Given the description of an element on the screen output the (x, y) to click on. 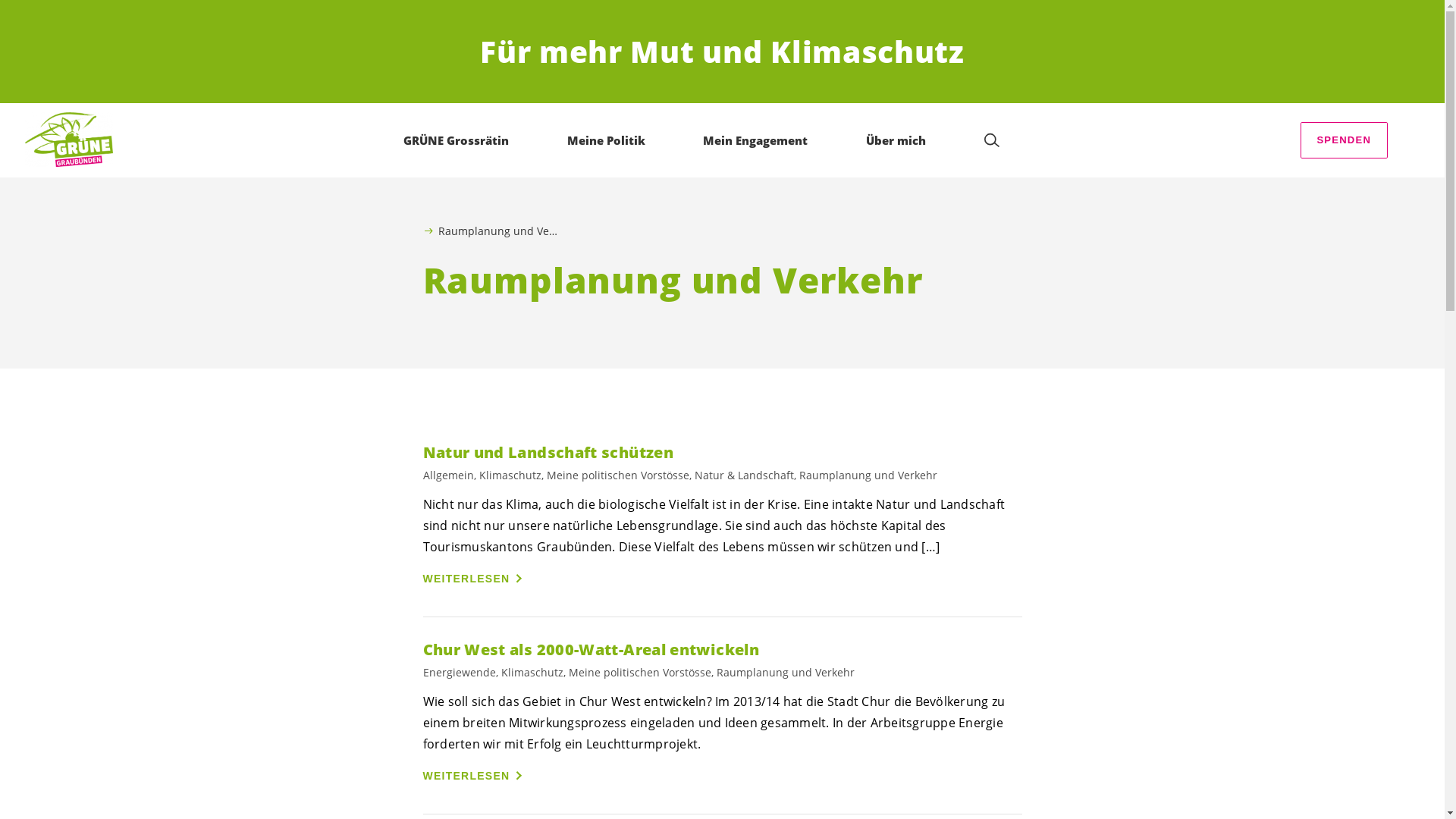
WEITERLESEN Element type: text (474, 578)
Startseite Element type: hover (68, 140)
SPENDEN Element type: text (1343, 140)
ZUM HAUPTINHALT SPRINGEN Element type: text (98, 15)
Chur West als 2000-Watt-Areal entwickeln Element type: text (722, 649)
Mein Engagement Element type: text (754, 139)
Meine Politik Element type: text (606, 139)
WEITERLESEN Element type: text (474, 775)
